Given the description of an element on the screen output the (x, y) to click on. 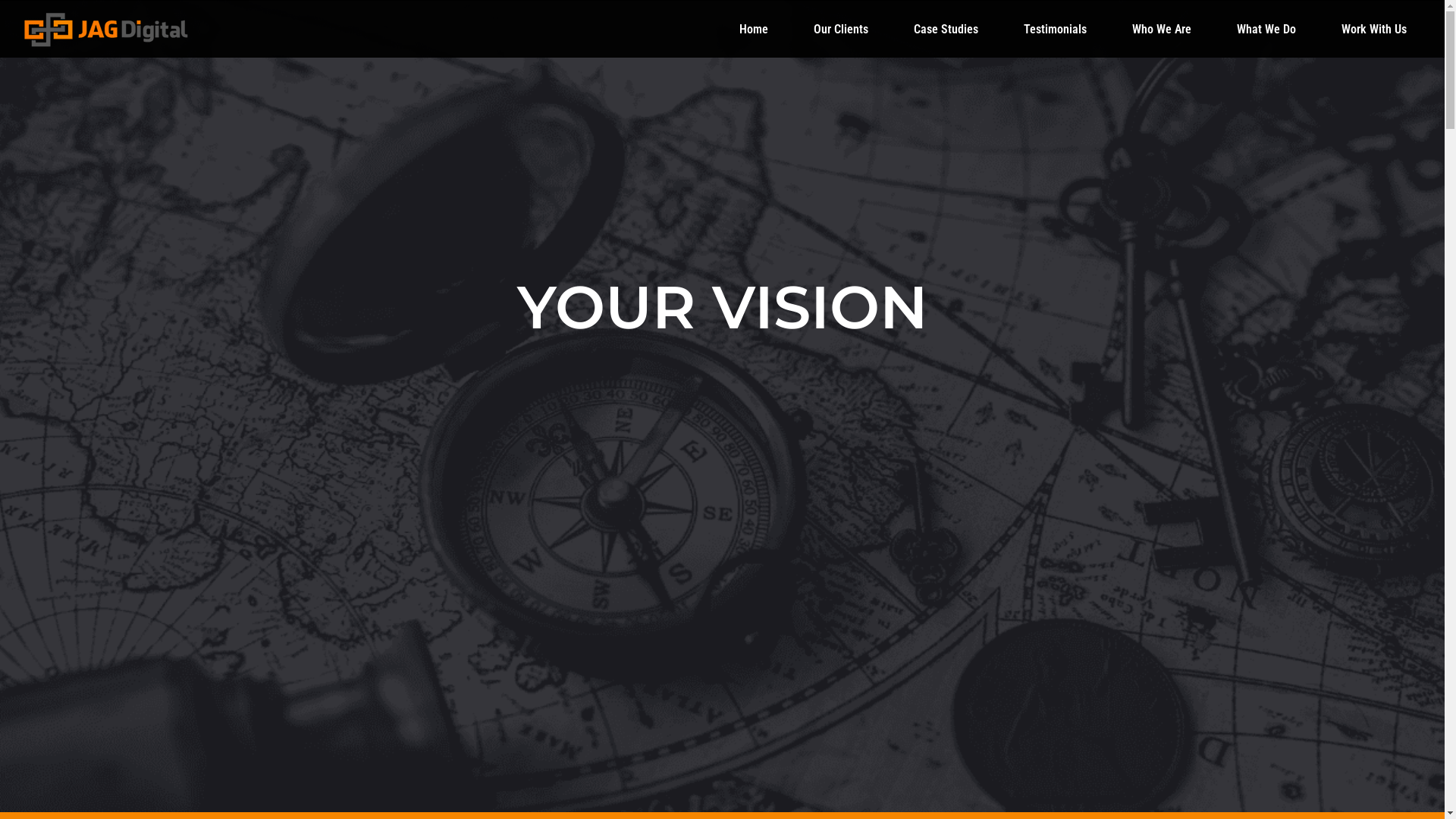
Testimonials Element type: text (1054, 29)
What We Do Element type: text (1266, 29)
Our Clients Element type: text (840, 29)
Who We Are Element type: text (1161, 29)
Case Studies Element type: text (945, 29)
Homepage 1 Element type: hover (105, 28)
Work With Us Element type: text (1373, 29)
Home Element type: text (753, 29)
